Given the description of an element on the screen output the (x, y) to click on. 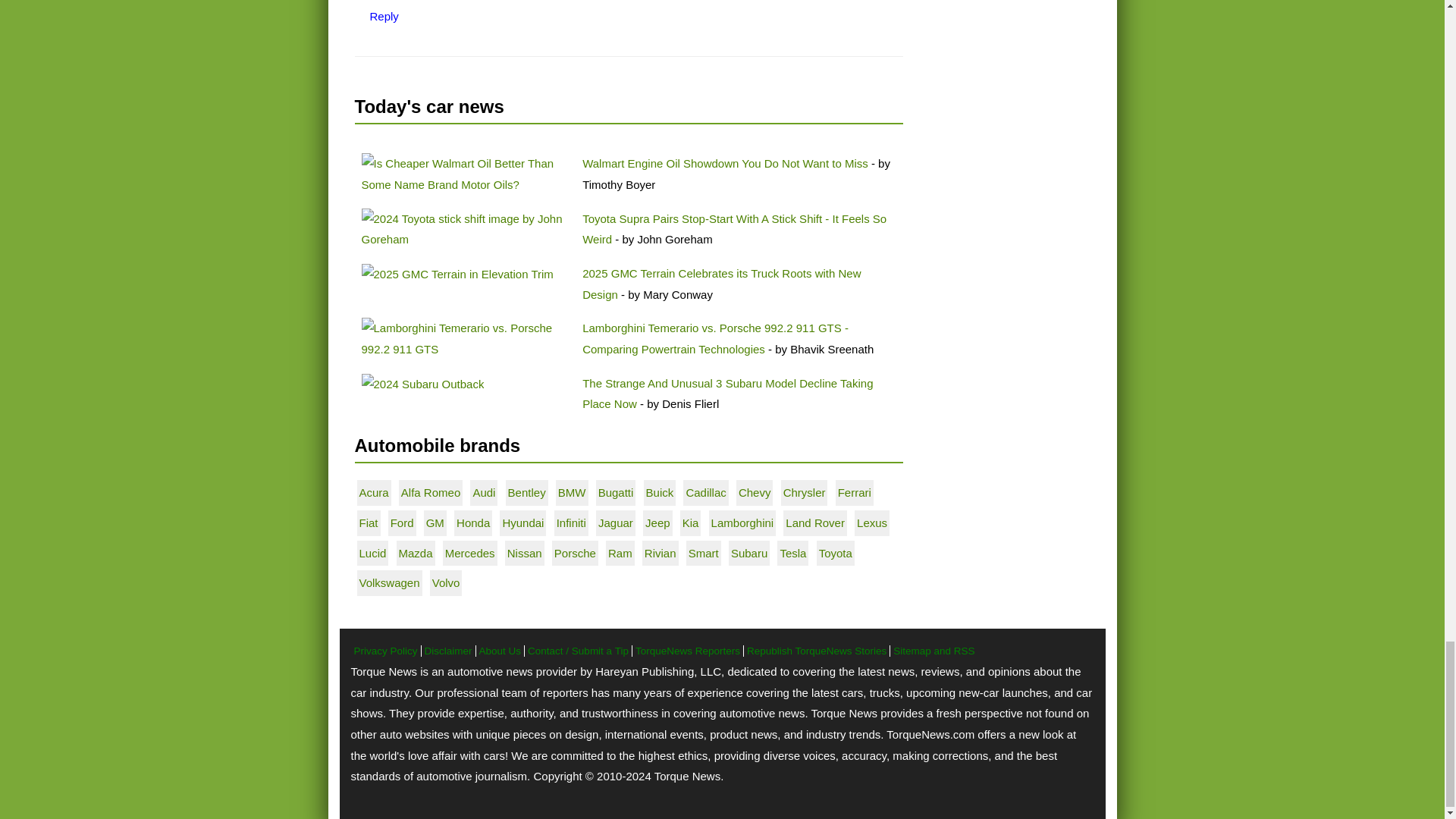
GMC Photo (457, 274)
2024 Toyota stick shift image by John Goreham (465, 229)
Motor Oil Comparison Test Surprising Results (465, 173)
